Given the description of an element on the screen output the (x, y) to click on. 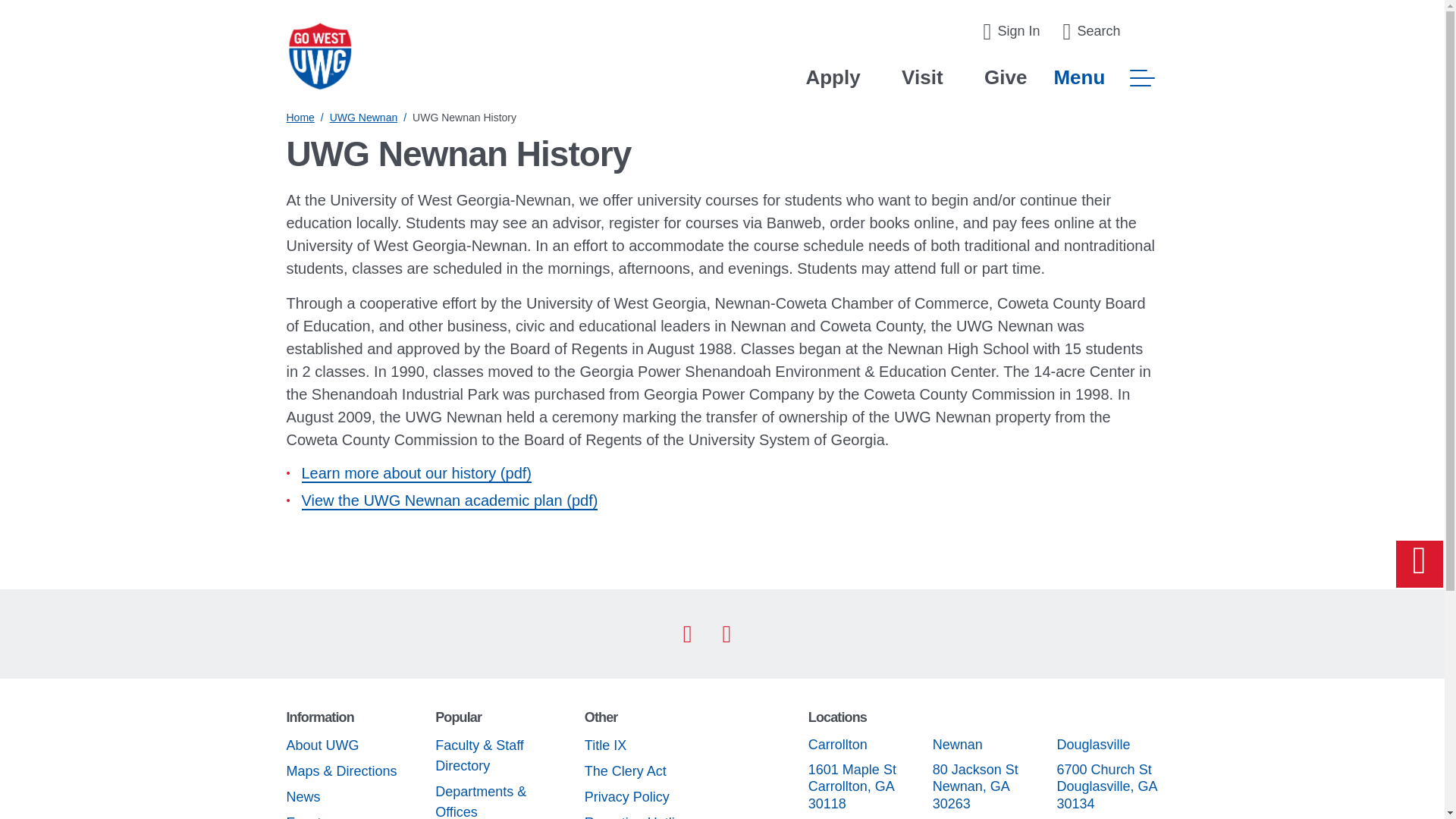
Search (1090, 32)
Menu (1104, 77)
Apply (832, 77)
Home (300, 117)
Give (1005, 77)
Sign In (1010, 32)
Visit (921, 77)
